Given the description of an element on the screen output the (x, y) to click on. 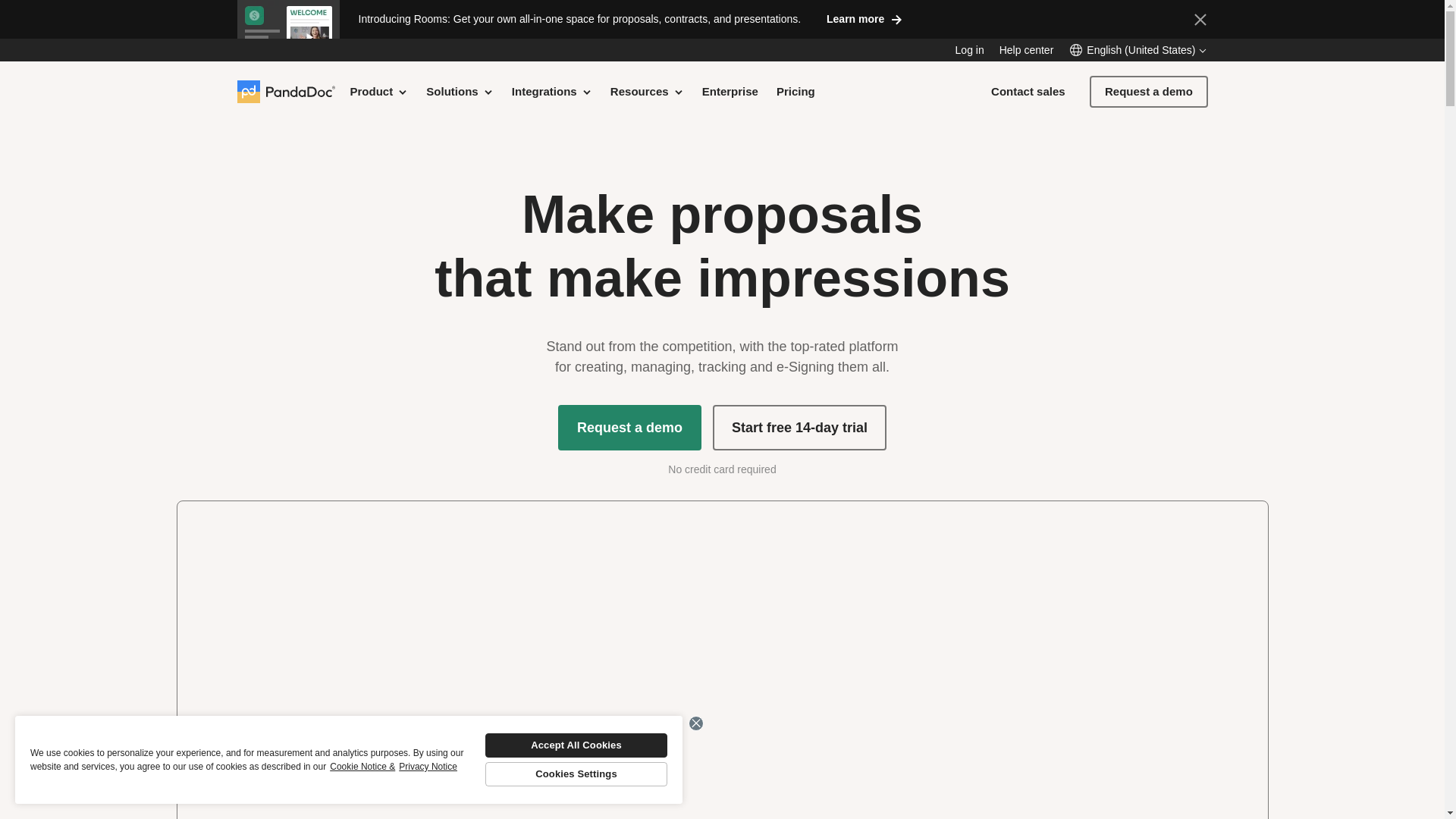
Product (379, 91)
Solutions (459, 91)
Learn more (864, 18)
Help center (1026, 50)
Log in (969, 50)
